Given the description of an element on the screen output the (x, y) to click on. 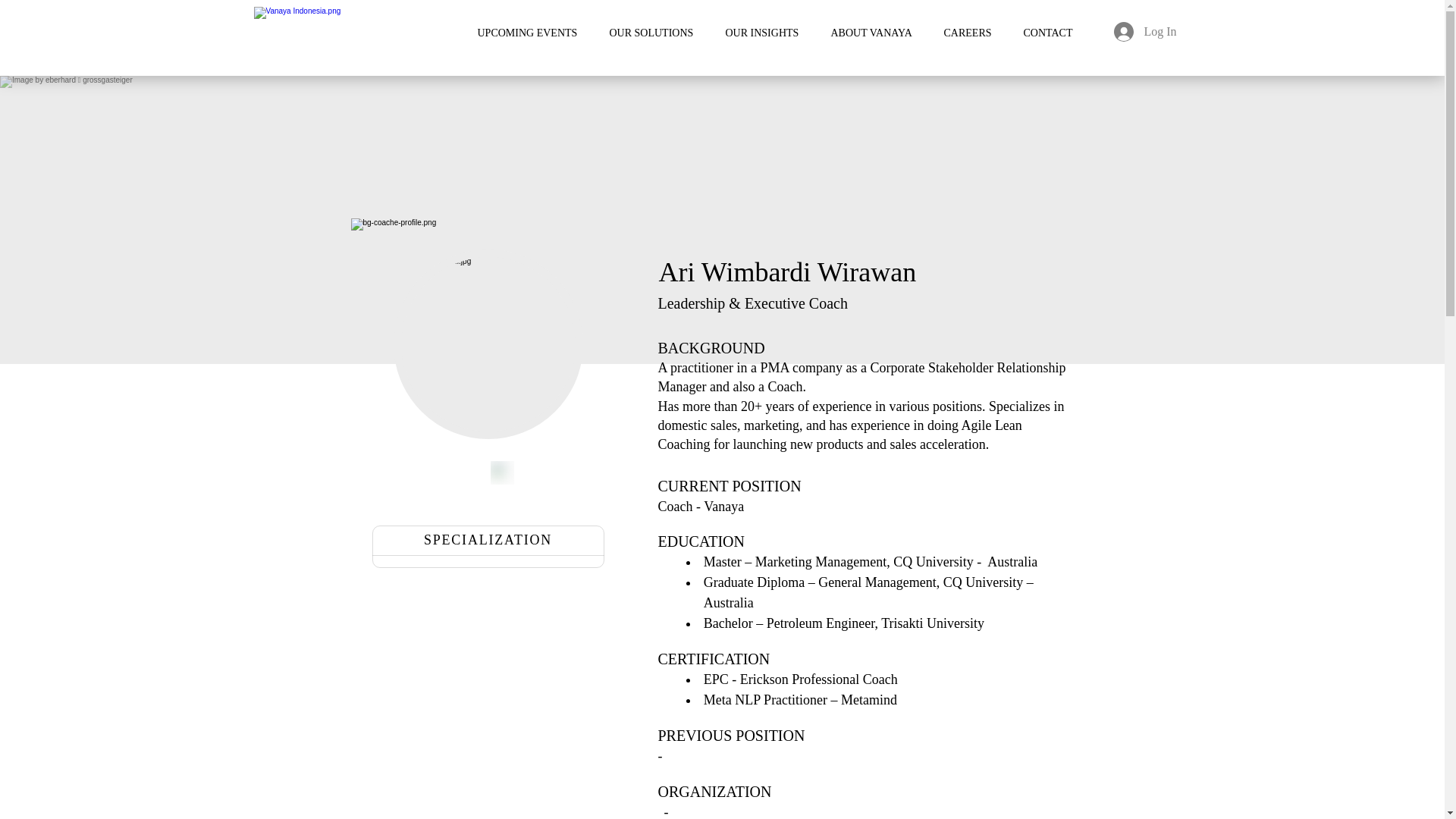
UPCOMING EVENTS (537, 26)
ABOUT VANAYA (881, 26)
CONTACT (1057, 26)
Log In (1139, 31)
CAREERS (976, 26)
